Given the description of an element on the screen output the (x, y) to click on. 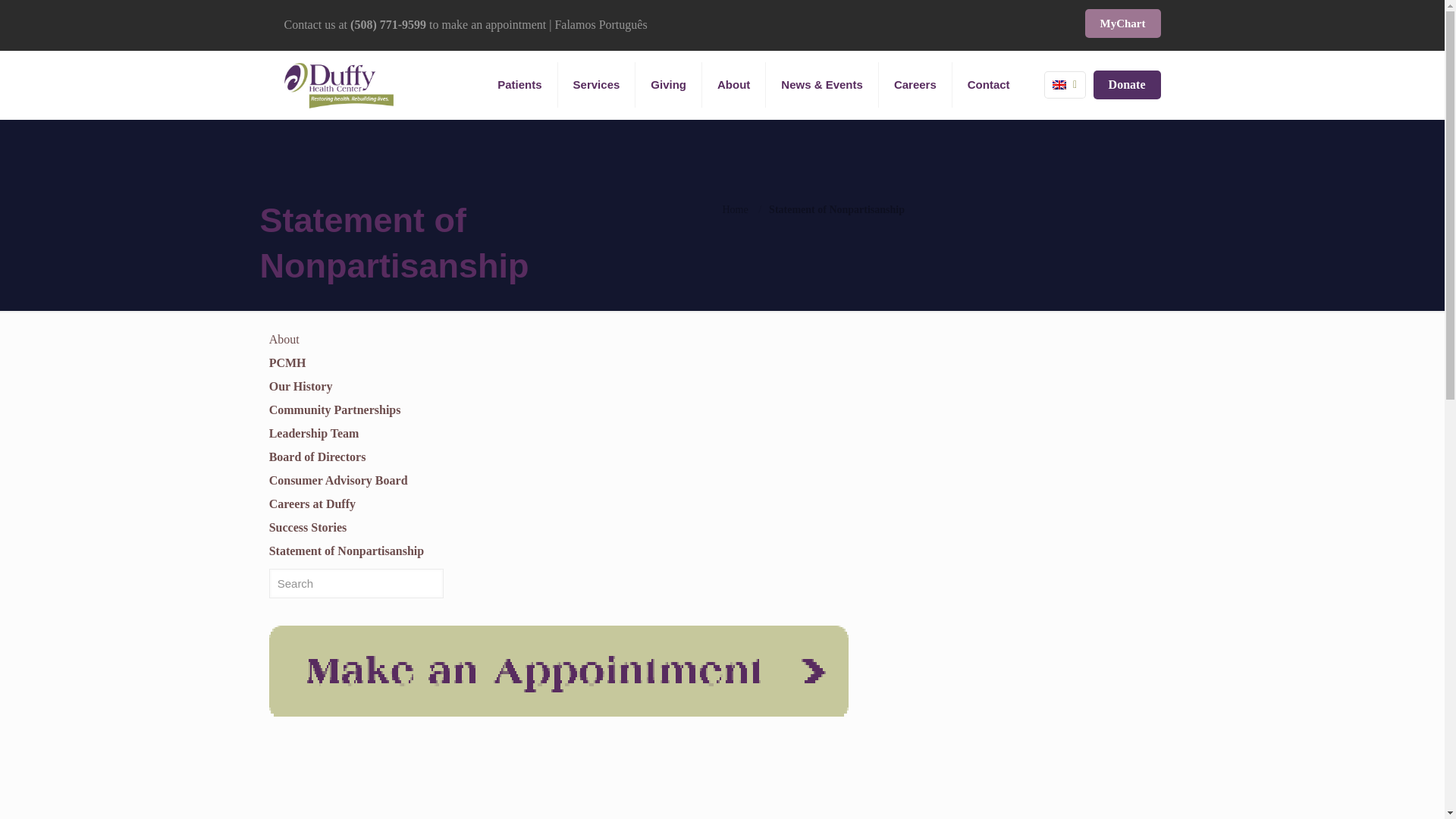
Patients (519, 84)
Duffy Health Center (338, 84)
MyChart (1122, 23)
About (733, 84)
Services (596, 84)
Giving (667, 84)
